Given the description of an element on the screen output the (x, y) to click on. 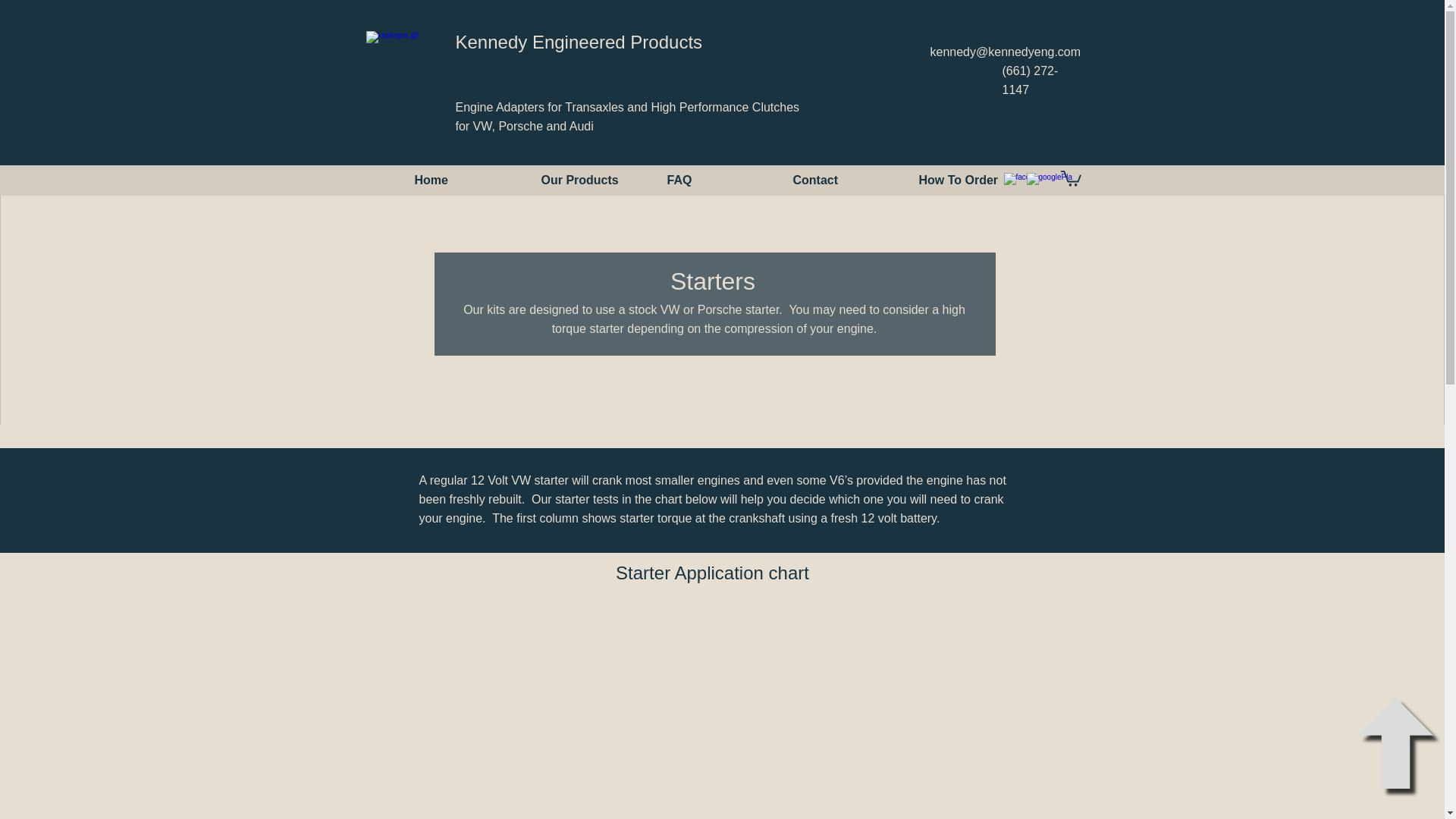
How To Order (969, 179)
Home (466, 179)
Contact (843, 179)
Our Products (592, 179)
FAQ (717, 179)
